Given the description of an element on the screen output the (x, y) to click on. 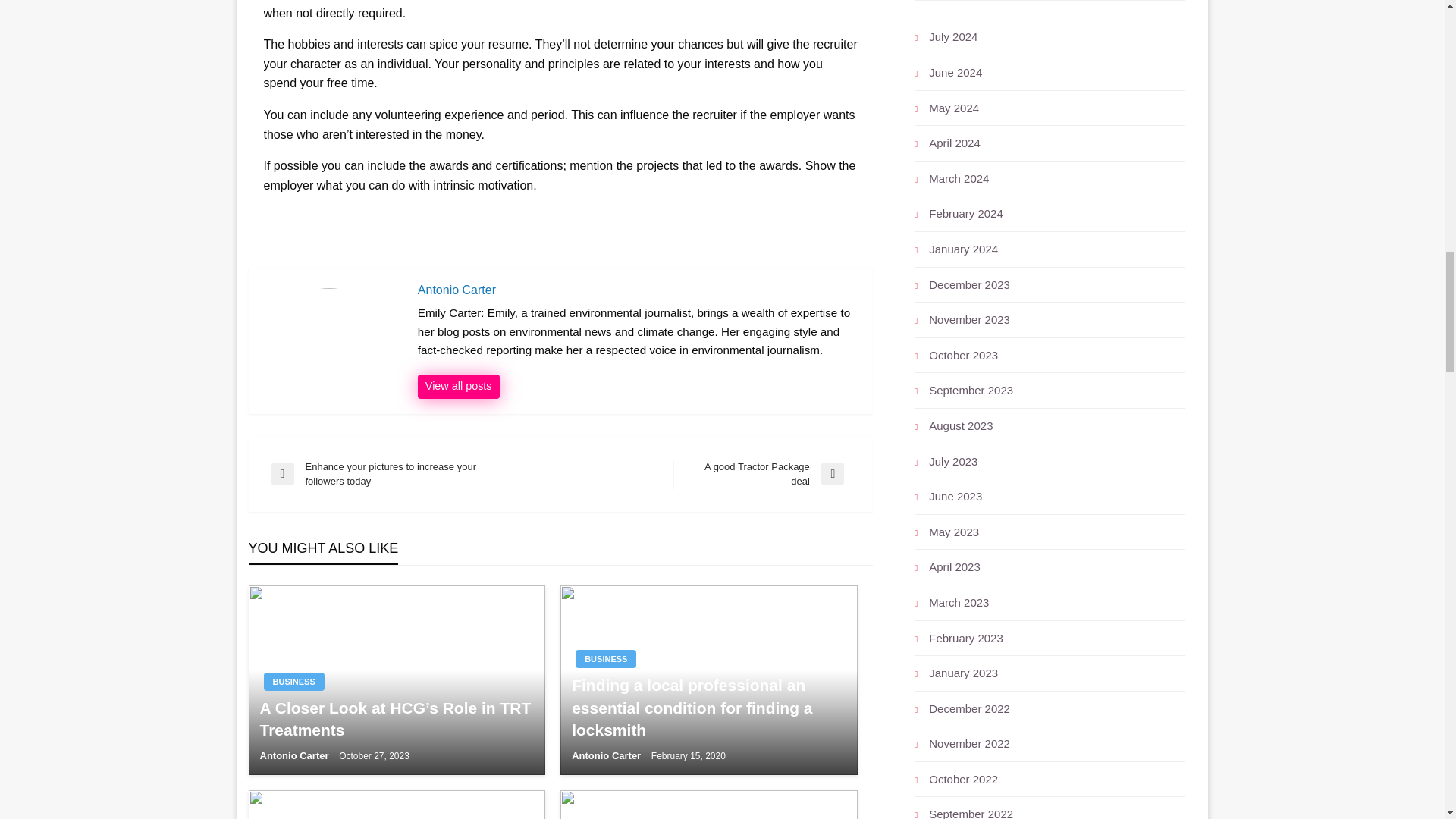
Antonio Carter (637, 290)
Antonio Carter (637, 290)
Antonio Carter (607, 755)
Antonio Carter (295, 755)
BUSINESS (293, 681)
View all posts (458, 386)
BUSINESS (605, 659)
Antonio Carter (458, 386)
